Given the description of an element on the screen output the (x, y) to click on. 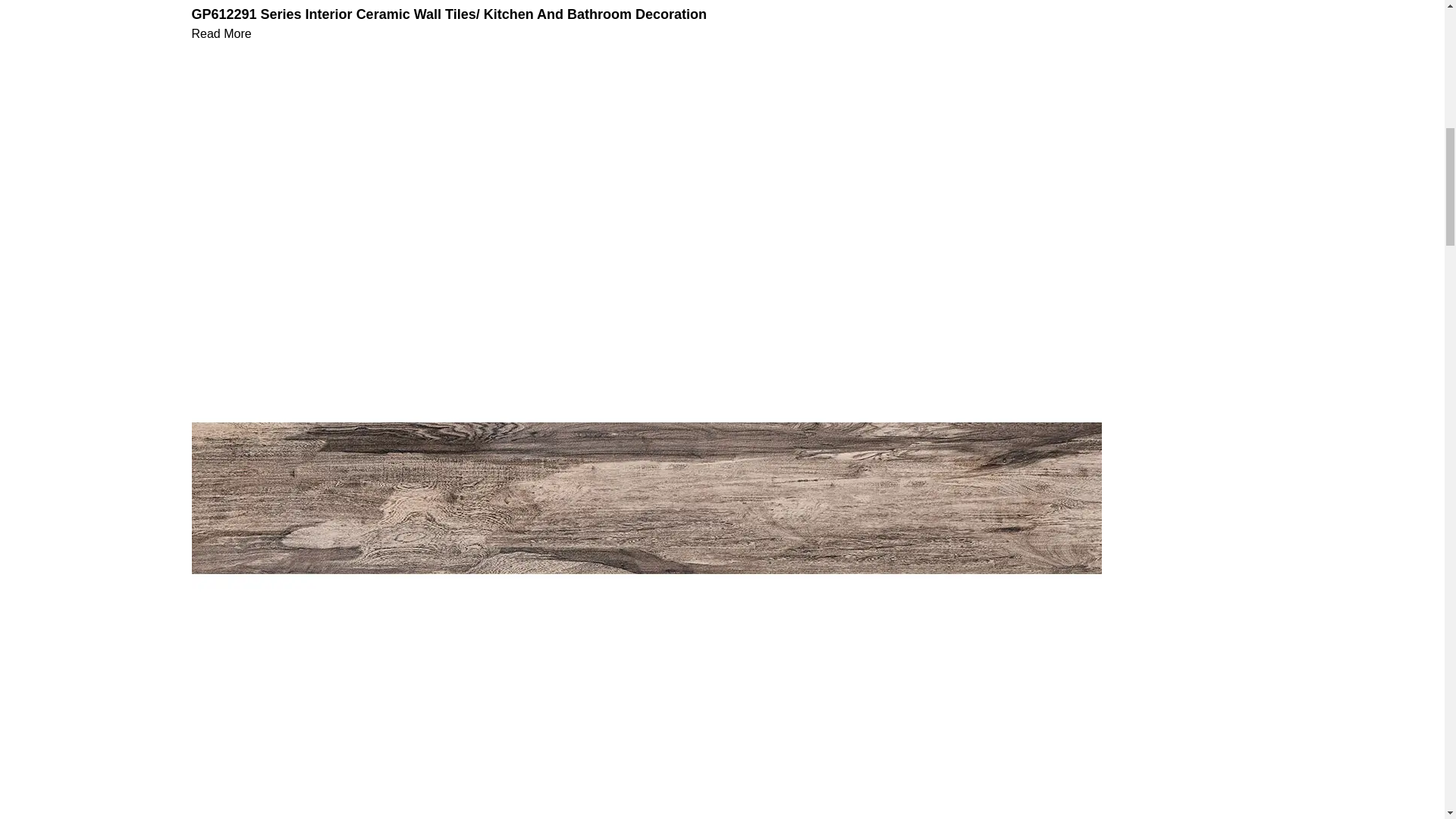
AS2012092 High-performance wood-effect tiles (645, 496)
